Given the description of an element on the screen output the (x, y) to click on. 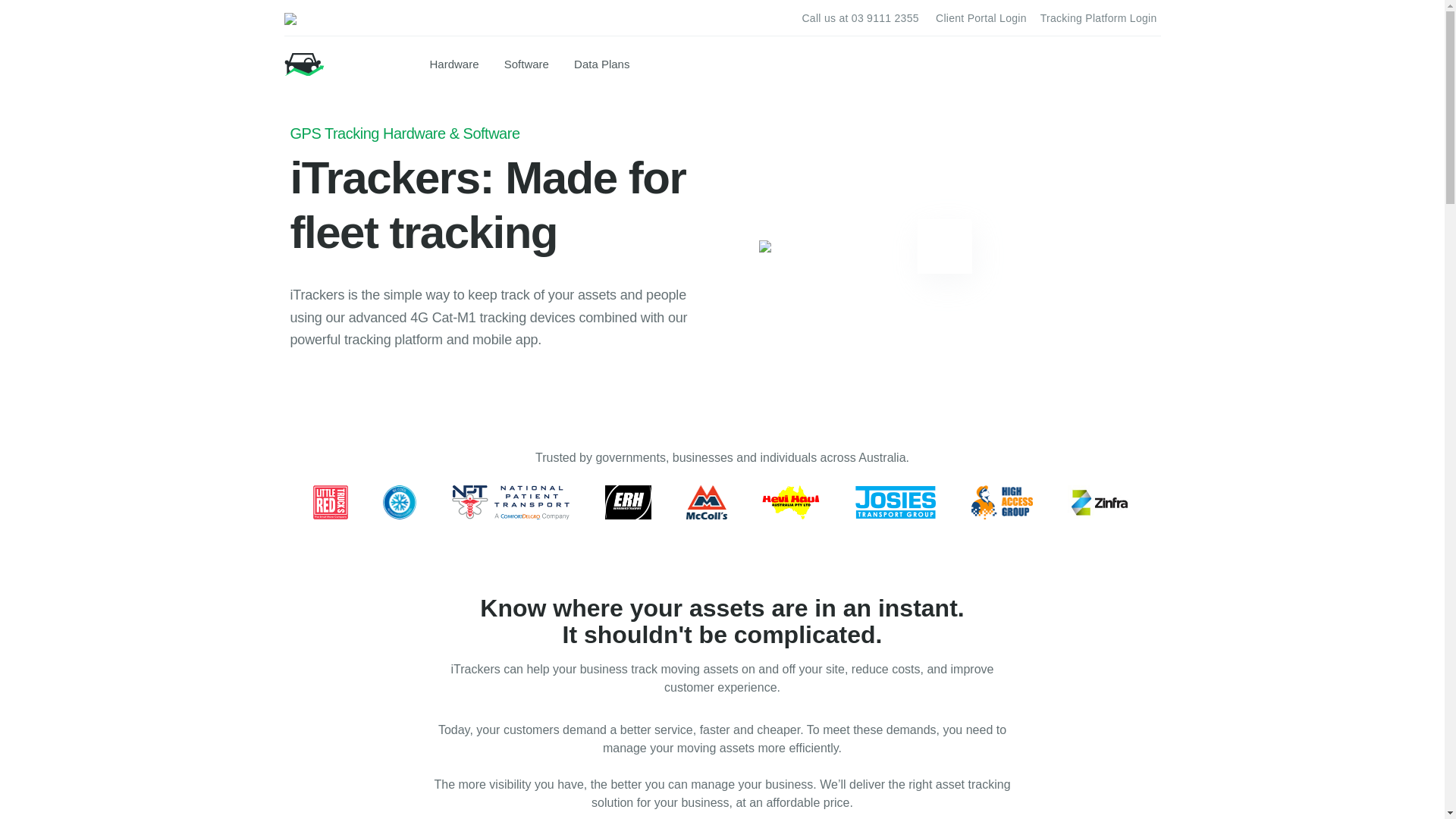
Client Portal Login Element type: text (980, 18)
Hardware Element type: text (455, 64)
Data Plans Element type: text (602, 64)
Software Element type: text (527, 64)
Tracking Platform Login Element type: text (1098, 18)
